Given the description of an element on the screen output the (x, y) to click on. 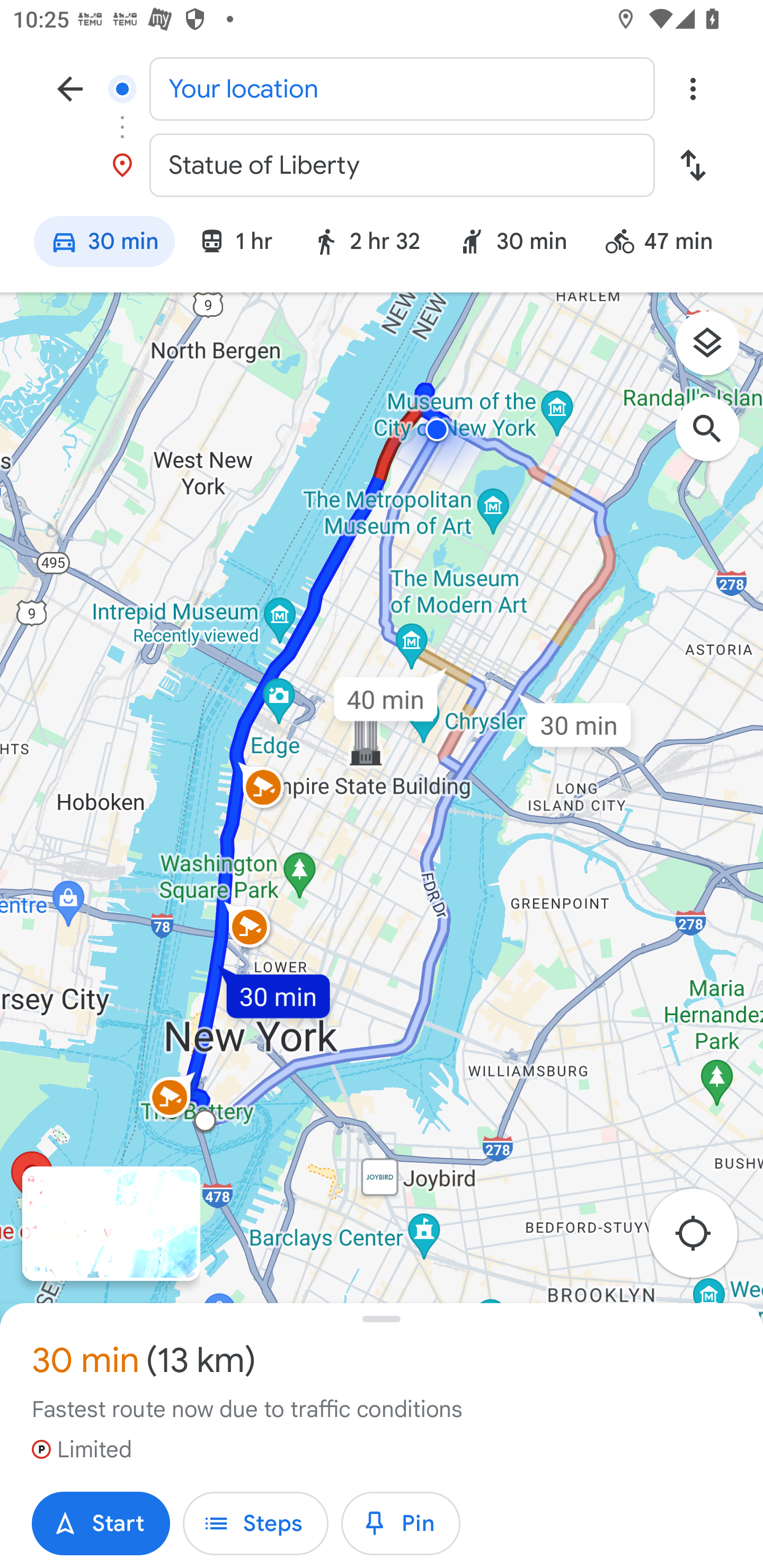
Navigate up (70, 88)
Your location Start location, Your location (381, 88)
Overflow menu (692, 88)
Statue of Liberty Destination, Statue of Liberty (381, 165)
Swap start and destination (692, 165)
Transit mode: 1 hr 1 hr (234, 244)
Walking mode: 2 hr 32 2 hr 32 (365, 244)
Ride service: 30 min 30 min (512, 244)
Bicycling mode: 47 min 47 min (667, 244)
Layers (716, 349)
Search along route (716, 438)
Open Immersive View for routes (110, 1223)
Re-center map to your location (702, 1238)
Steps Steps Steps (255, 1522)
Pin trip Pin Pin trip (400, 1522)
